Given the description of an element on the screen output the (x, y) to click on. 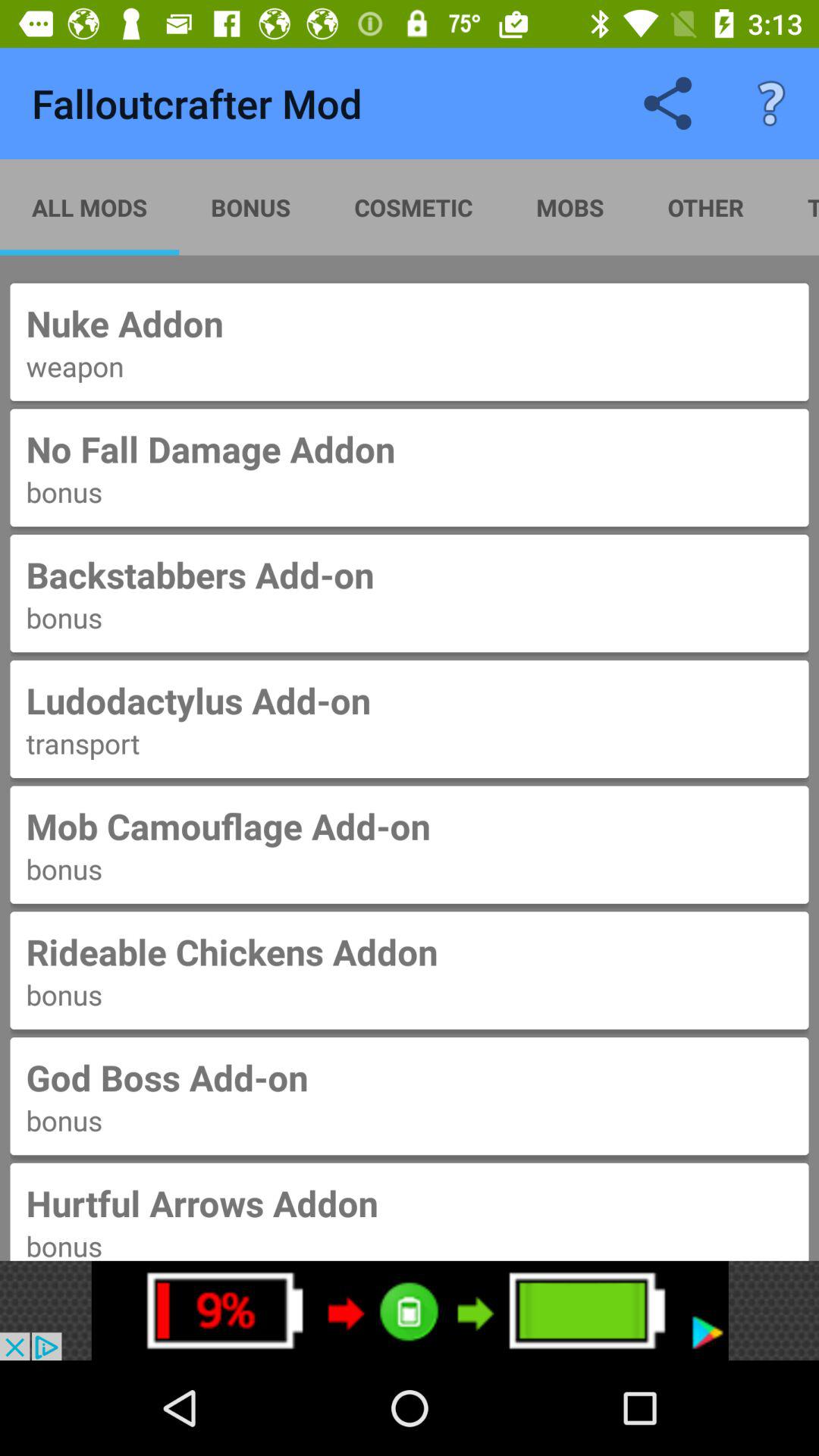
advertisement for increase in battery power (409, 1310)
